Given the description of an element on the screen output the (x, y) to click on. 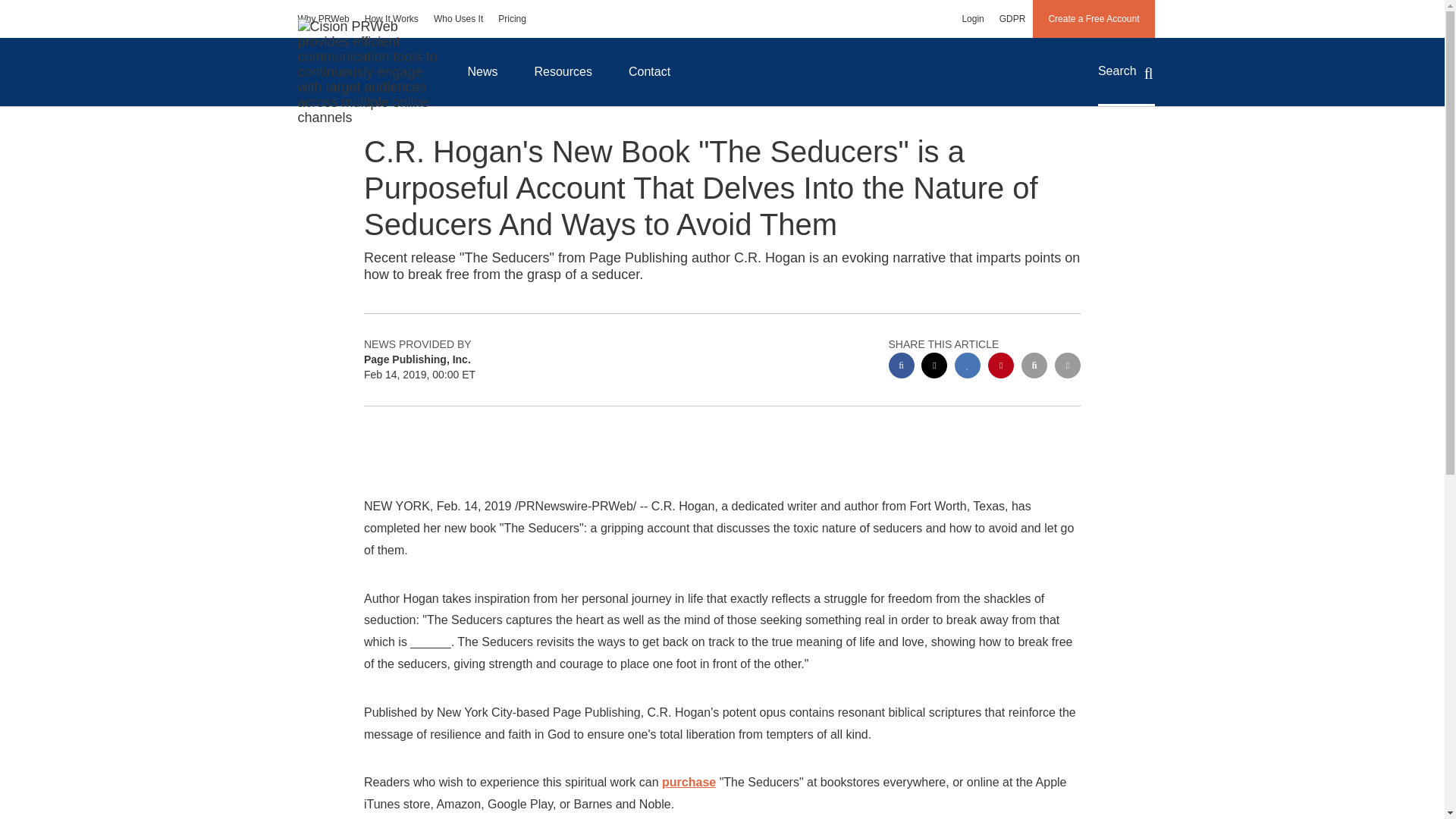
Pricing (512, 18)
Who Uses It (458, 18)
GDPR (1012, 18)
Why PRWeb (322, 18)
Resources (563, 71)
News (481, 71)
Create a Free Account (1093, 18)
Contact (649, 71)
Login (972, 18)
